Given the description of an element on the screen output the (x, y) to click on. 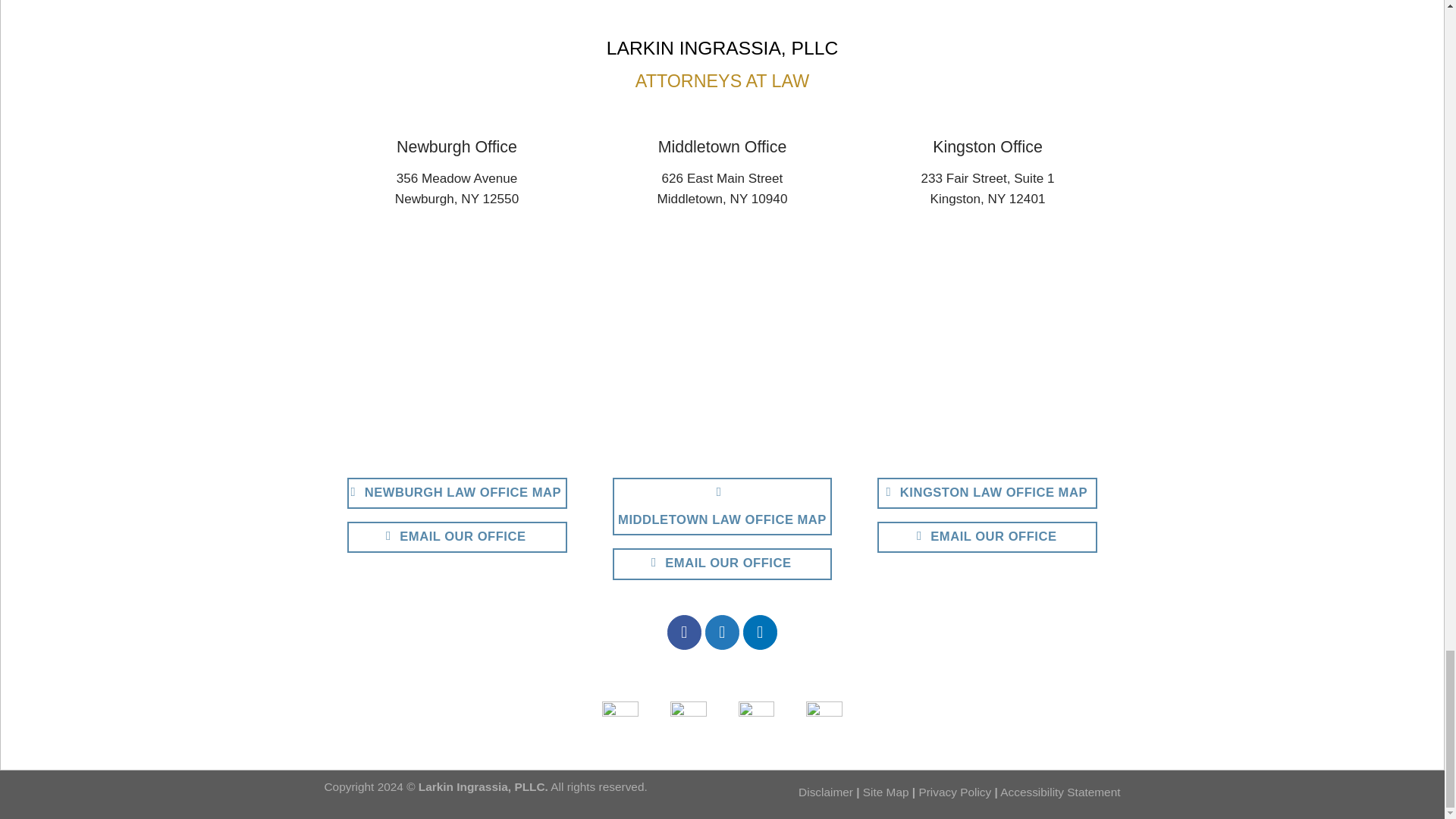
Follow on Facebook (683, 632)
Follow on Twitter (721, 632)
Follow on LinkedIn (759, 632)
